Given the description of an element on the screen output the (x, y) to click on. 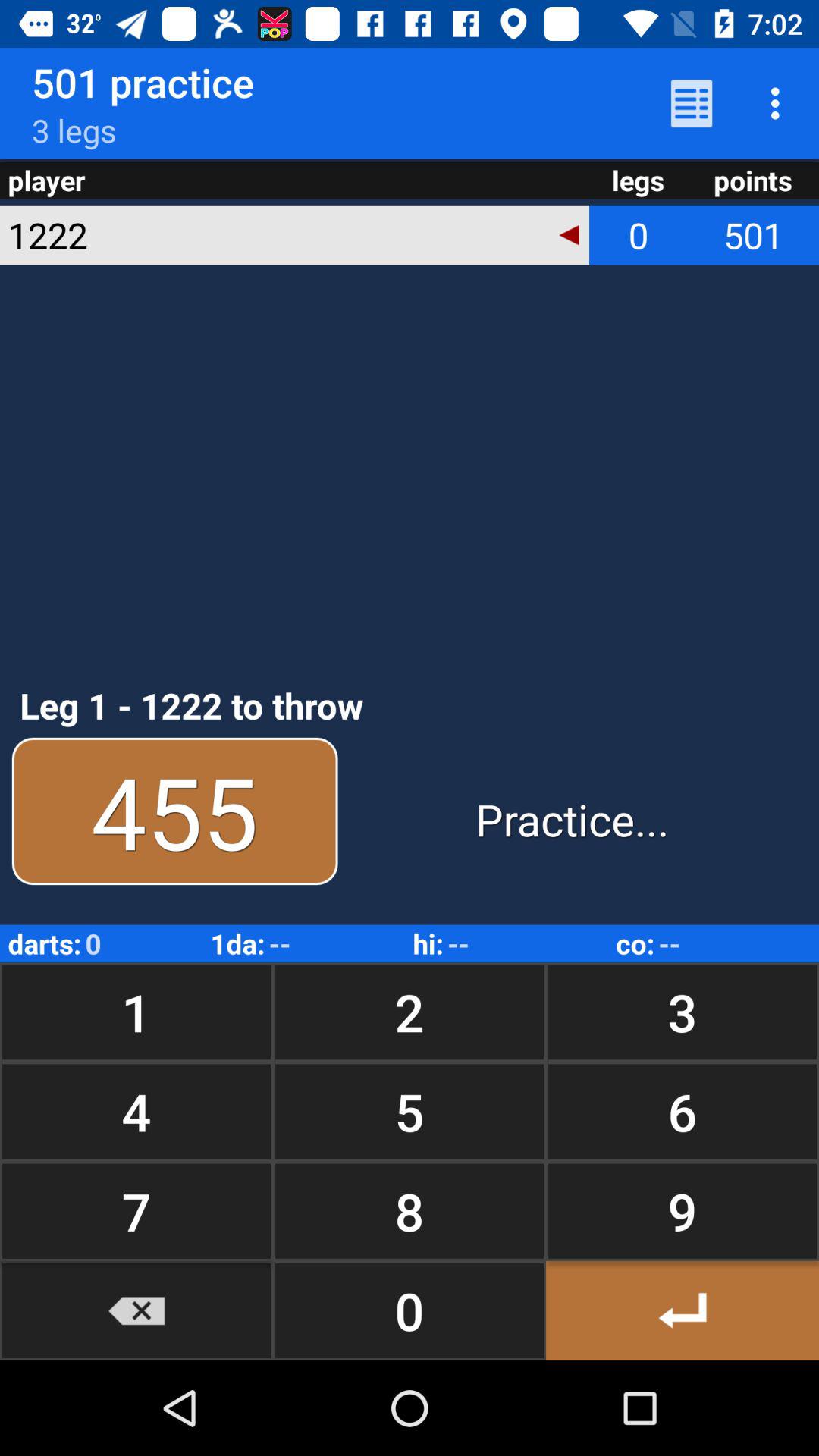
delete a digit (136, 1310)
